Given the description of an element on the screen output the (x, y) to click on. 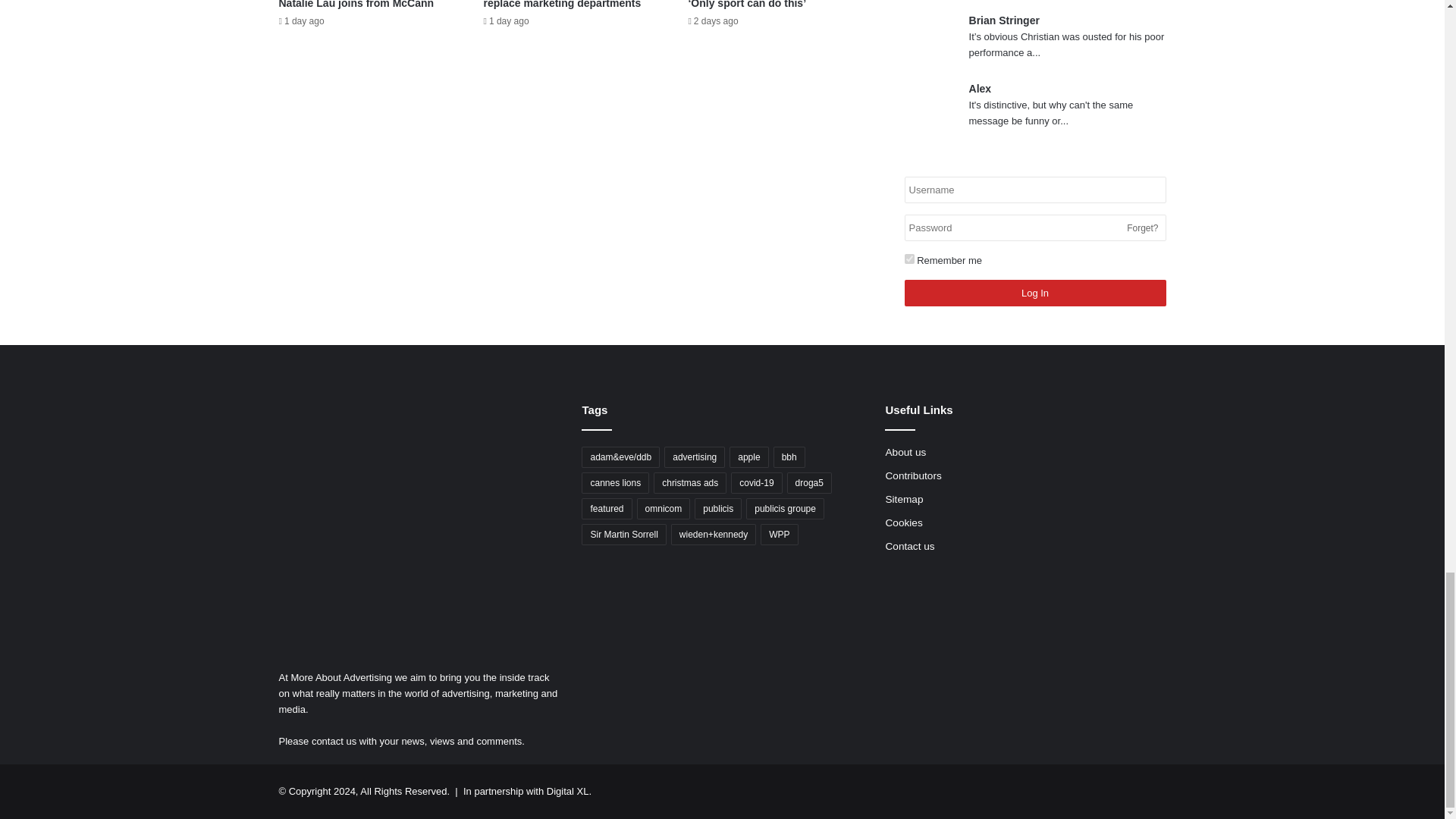
Username (1035, 189)
forever (909, 258)
Password (1035, 227)
